Given the description of an element on the screen output the (x, y) to click on. 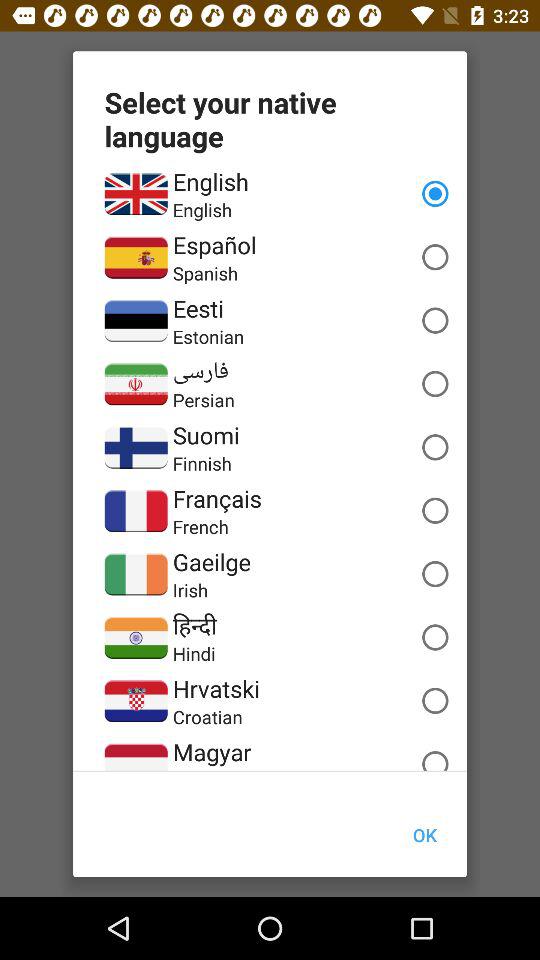
turn off estonian icon (208, 336)
